Given the description of an element on the screen output the (x, y) to click on. 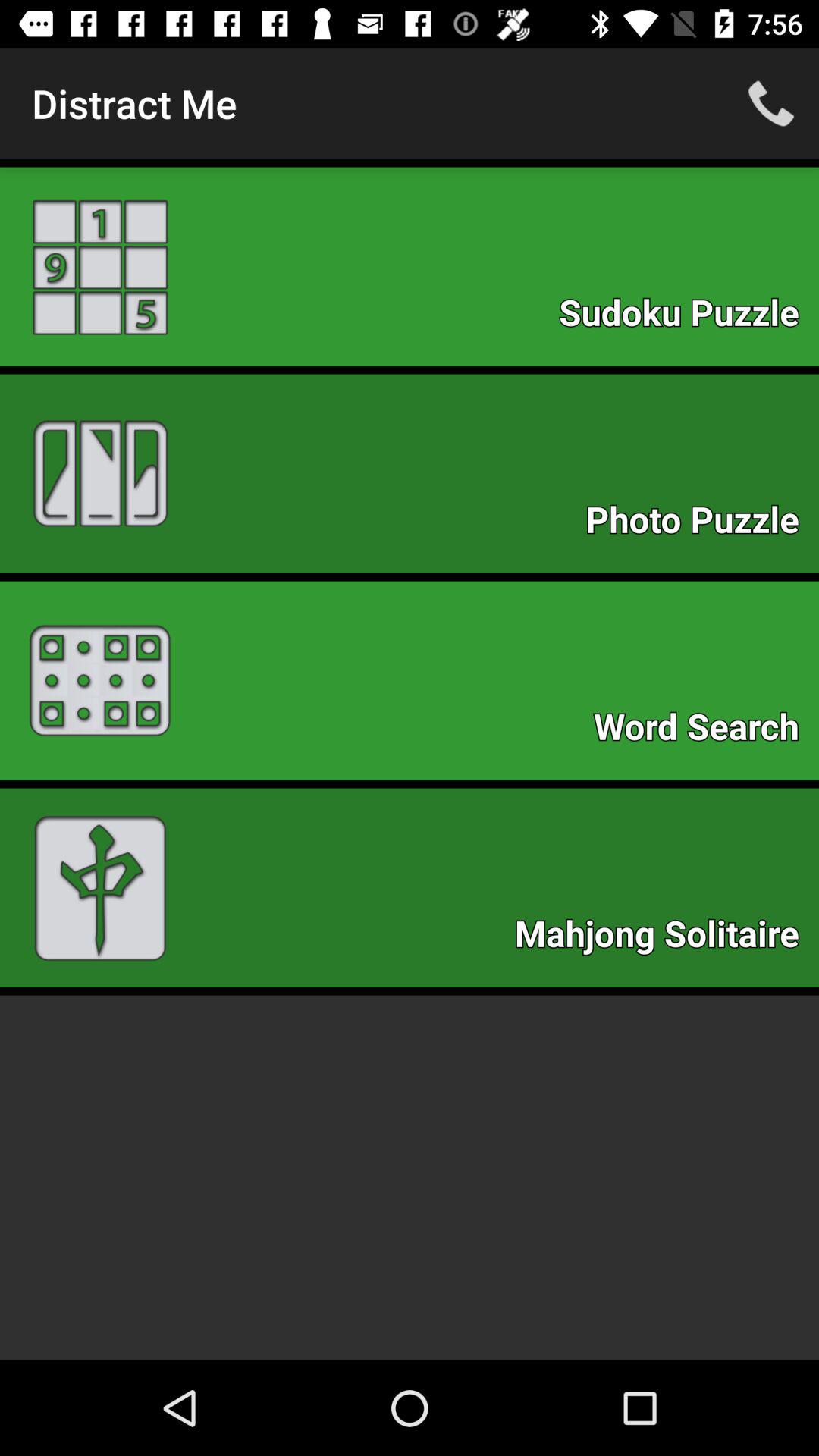
flip to mahjong solitaire item (664, 937)
